Given the description of an element on the screen output the (x, y) to click on. 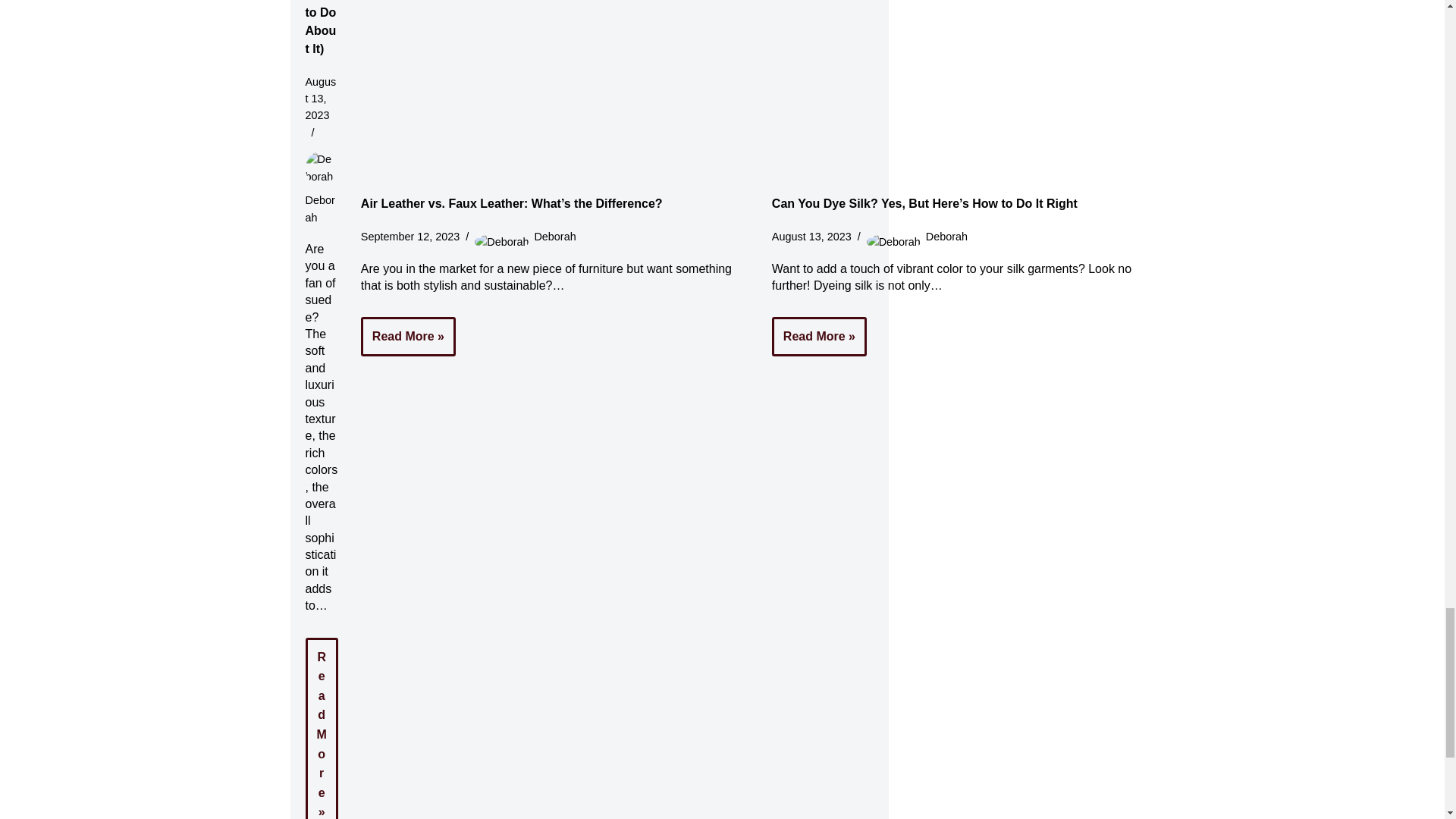
Deborah (554, 236)
Posts by Deborah (319, 208)
Deborah (319, 208)
Posts by Deborah (947, 236)
Posts by Deborah (554, 236)
Deborah (947, 236)
